Given the description of an element on the screen output the (x, y) to click on. 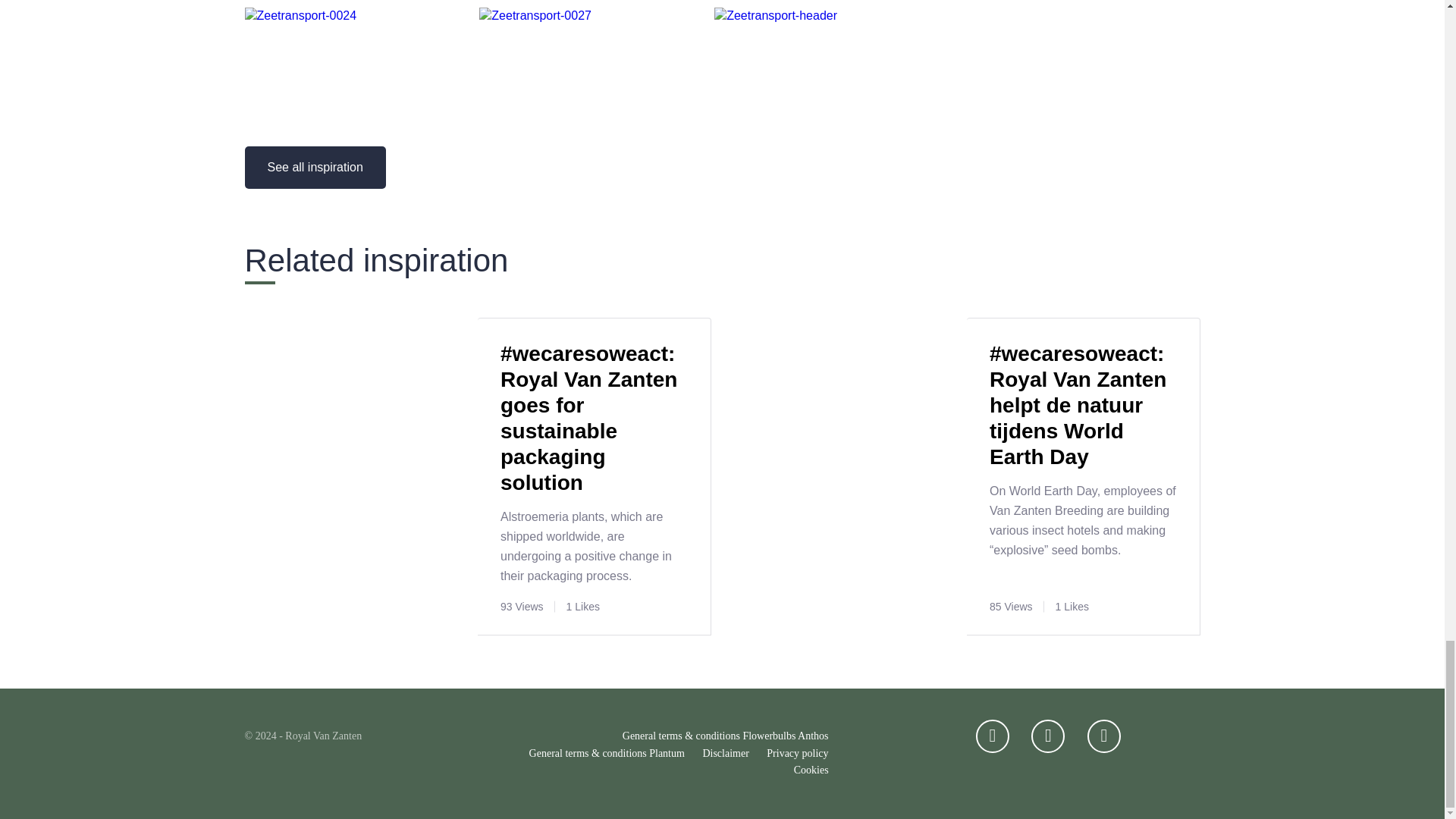
Zeetransport-header (825, 20)
Cookies (810, 770)
See all inspiration (314, 168)
Zeetransport-0027 (591, 20)
Privacy policy (797, 753)
Disclaimer (724, 753)
Zeetransport-0024 (355, 20)
